Given the description of an element on the screen output the (x, y) to click on. 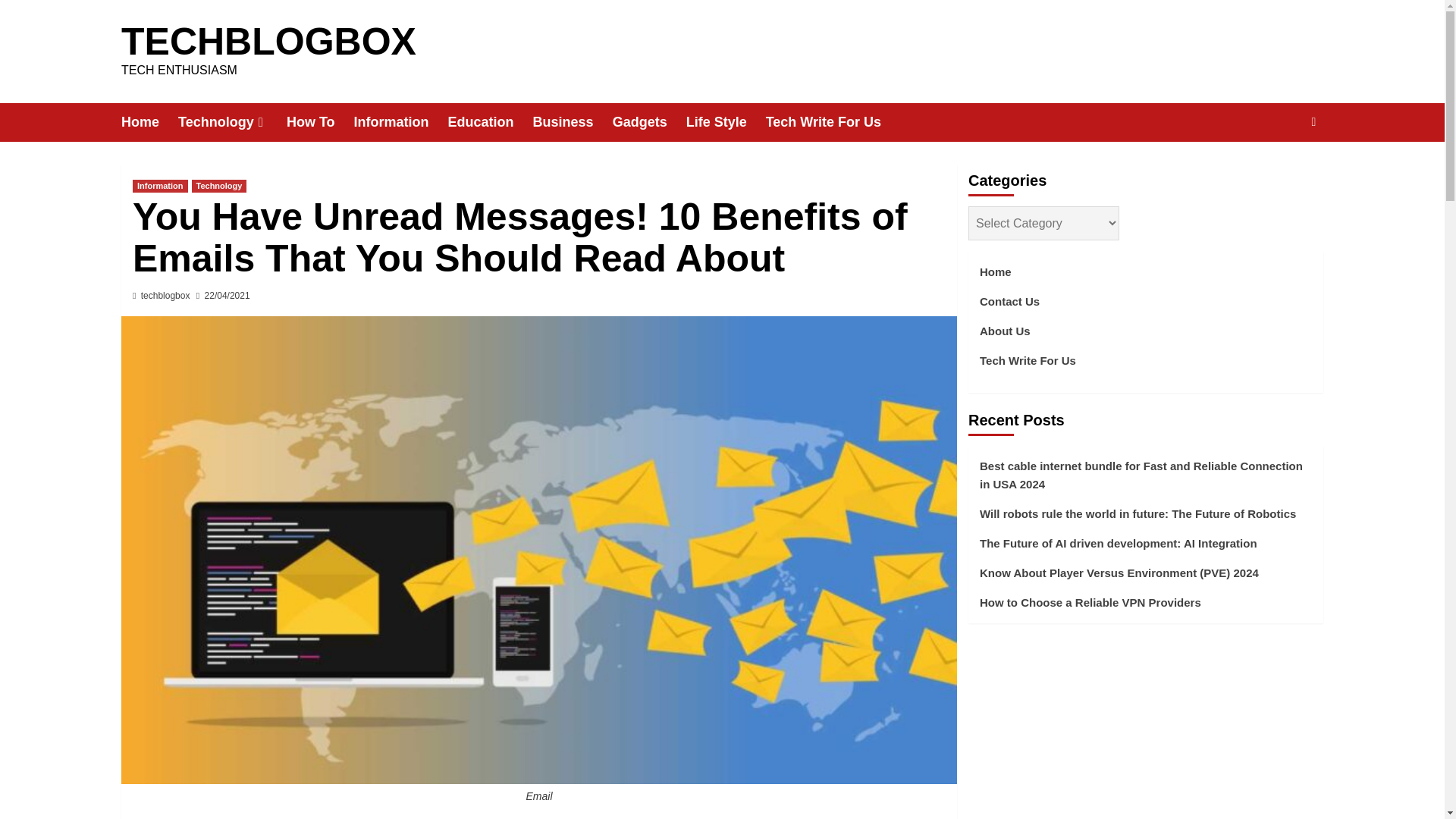
How To (319, 122)
Information (159, 185)
Gadgets (648, 122)
Search (1278, 168)
Technology (218, 185)
Home (148, 122)
techblogbox (165, 295)
Business (572, 122)
Life Style (725, 122)
Education (490, 122)
Information (400, 122)
TECHBLOGBOX (268, 41)
Technology (231, 122)
Tech Write For Us (832, 122)
